Given the description of an element on the screen output the (x, y) to click on. 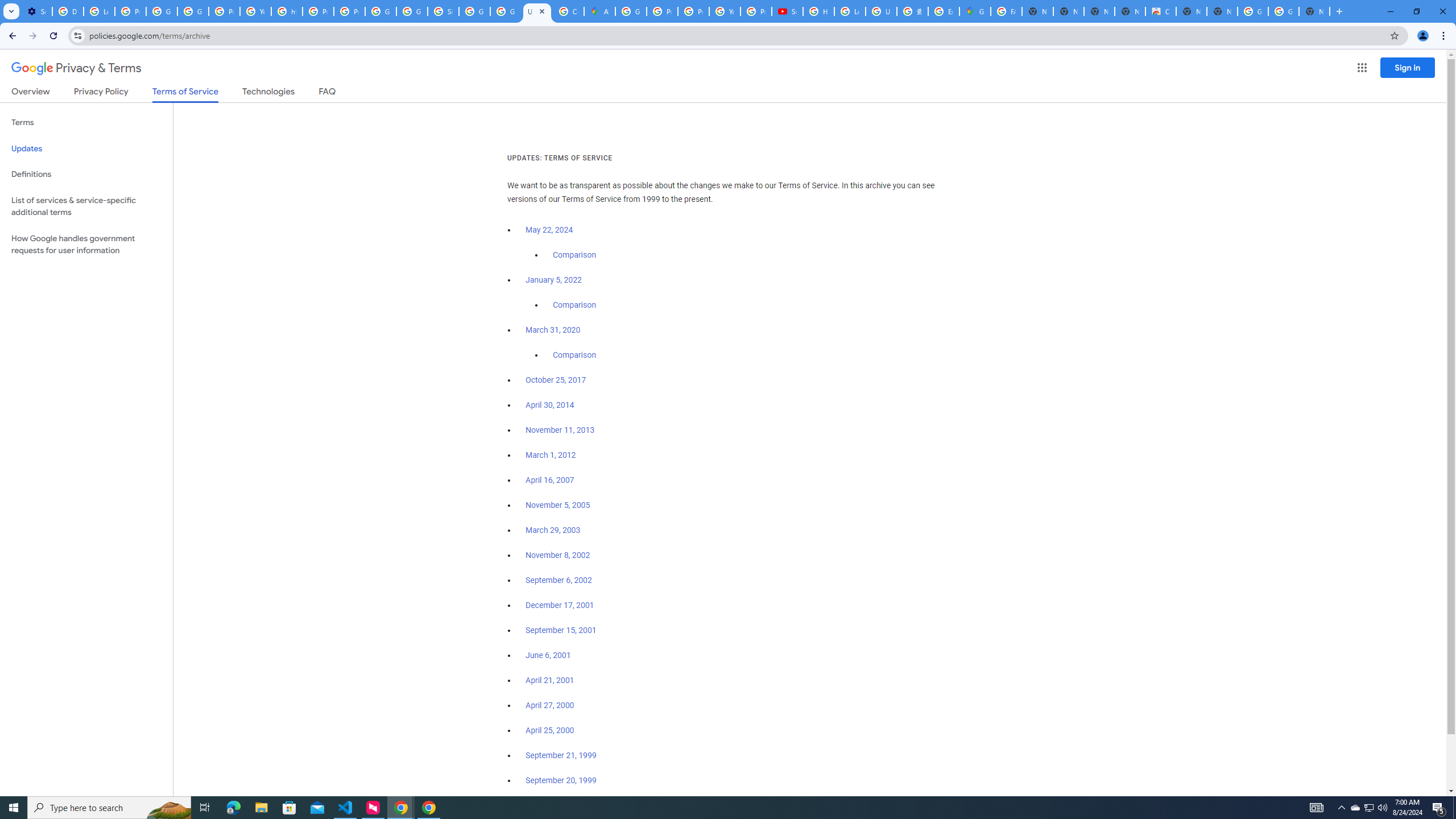
Google Images (1252, 11)
January 5, 2022 (553, 280)
Privacy & Terms (76, 68)
Comparison (574, 355)
Google apps (1362, 67)
New Tab (1314, 11)
April 21, 2001 (550, 679)
Definitions (86, 174)
April 25, 2000 (550, 729)
